Given the description of an element on the screen output the (x, y) to click on. 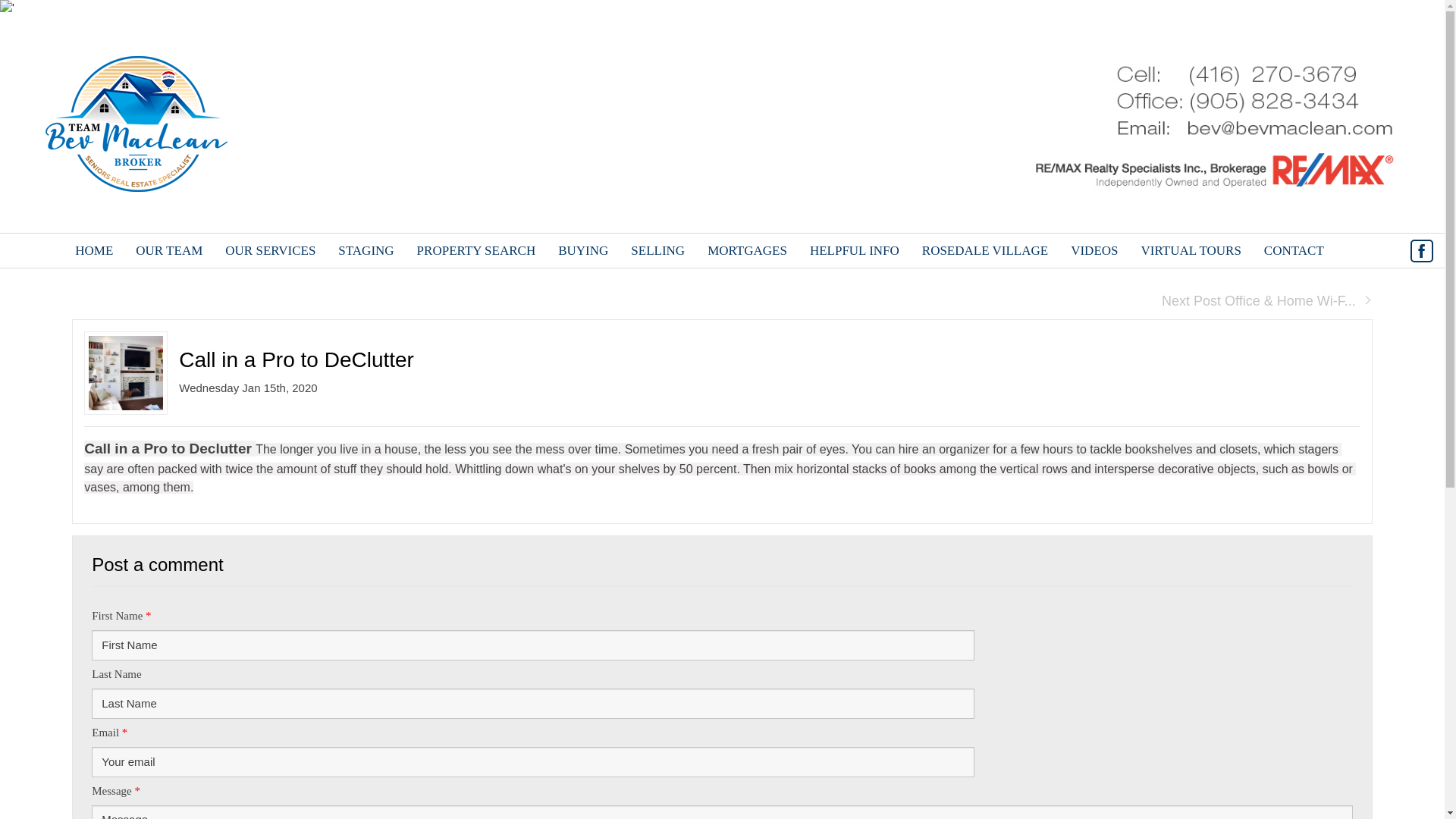
OUR SERVICES (270, 250)
Facebook (1421, 250)
Our Services (270, 250)
PROPERTY SEARCH (476, 250)
OUR TEAM (168, 250)
HOME (93, 250)
STAGING (365, 250)
OUR TEAM (168, 250)
Staging (365, 250)
Home (93, 250)
Property Search (476, 250)
